Given the description of an element on the screen output the (x, y) to click on. 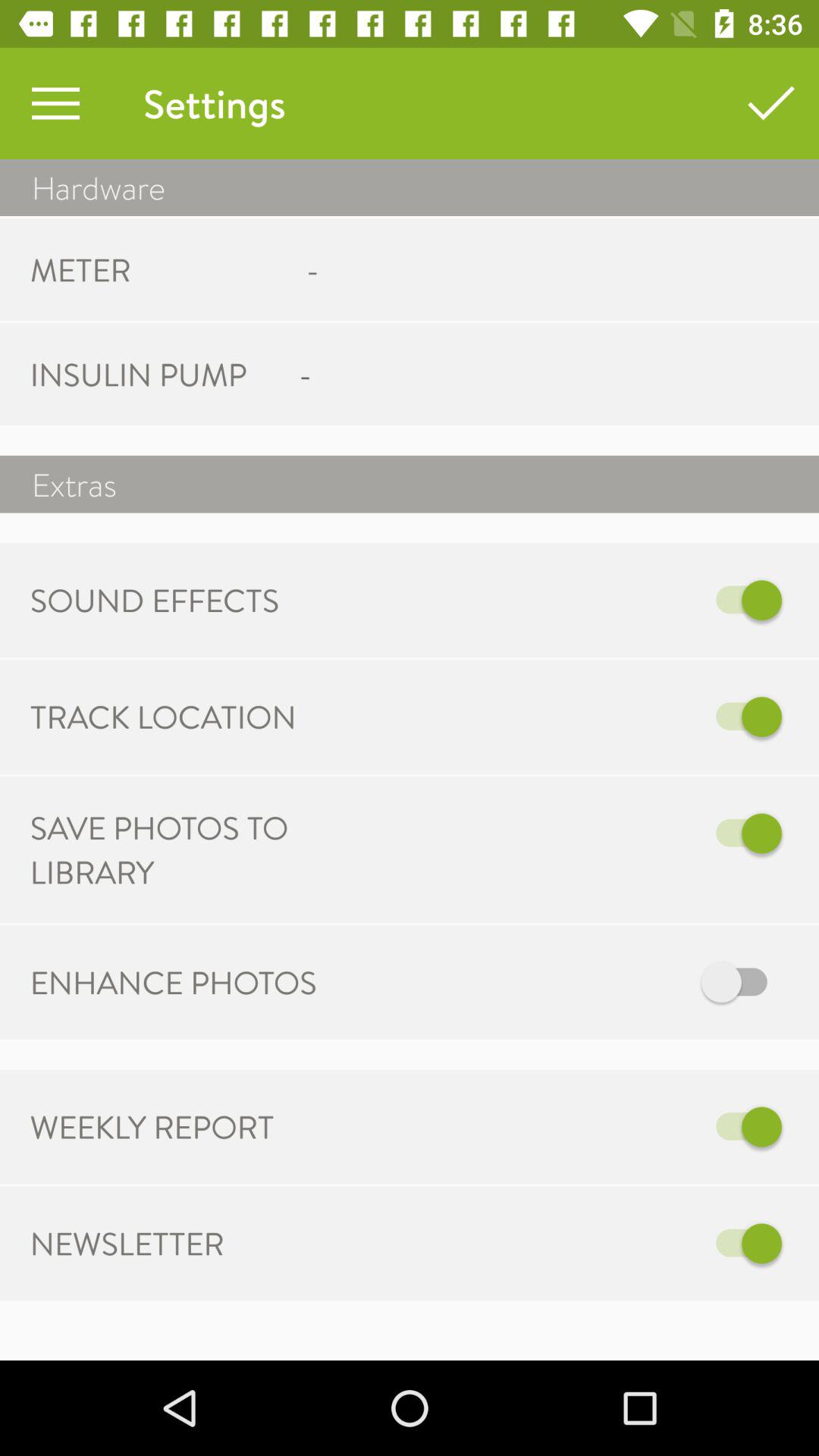
click item to the right of track location (566, 716)
